Given the description of an element on the screen output the (x, y) to click on. 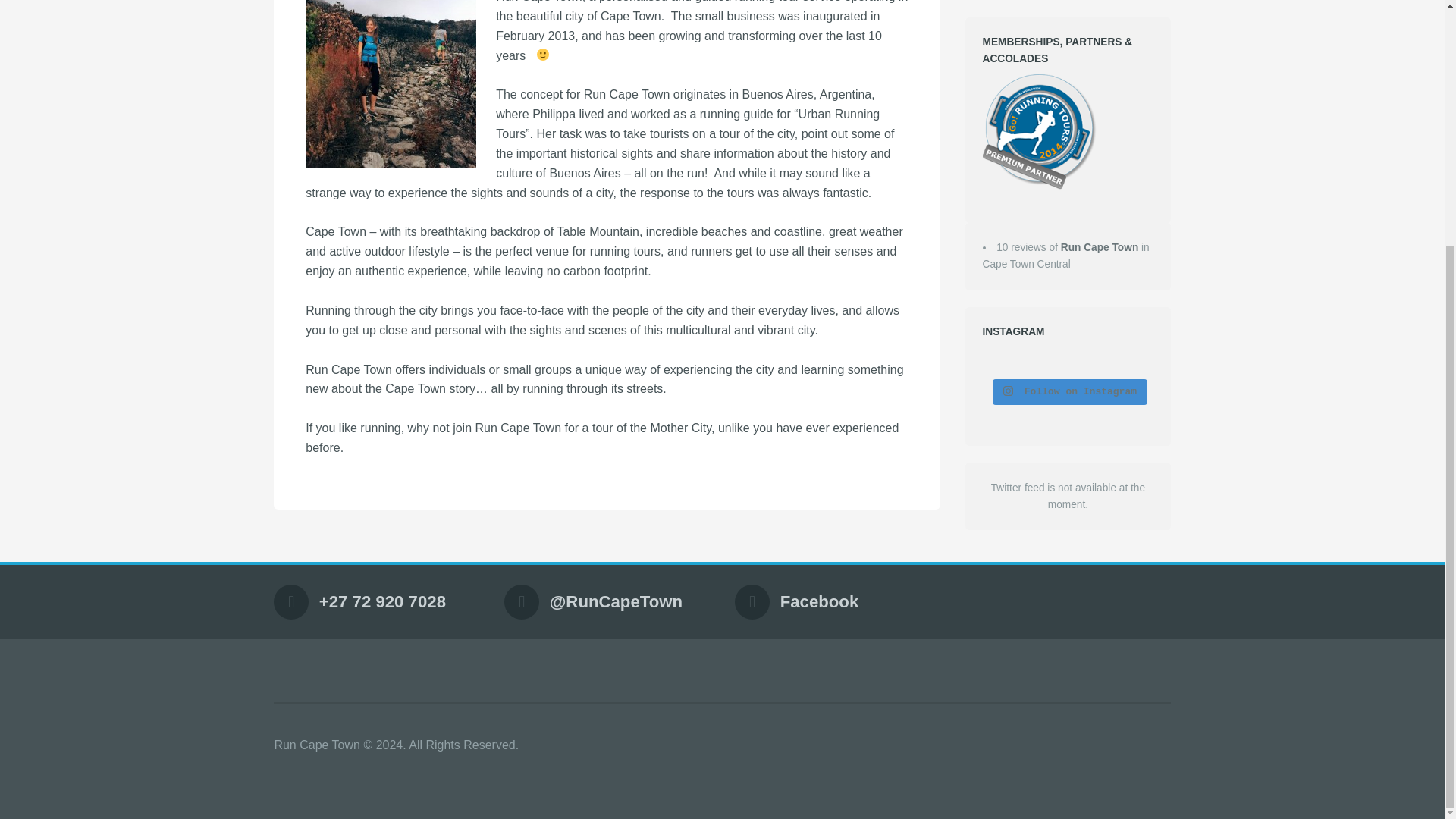
Follow on Instagram (1069, 391)
Facebook (819, 601)
Go Running Tours (1039, 131)
Run Cape Town (1099, 247)
